Given the description of an element on the screen output the (x, y) to click on. 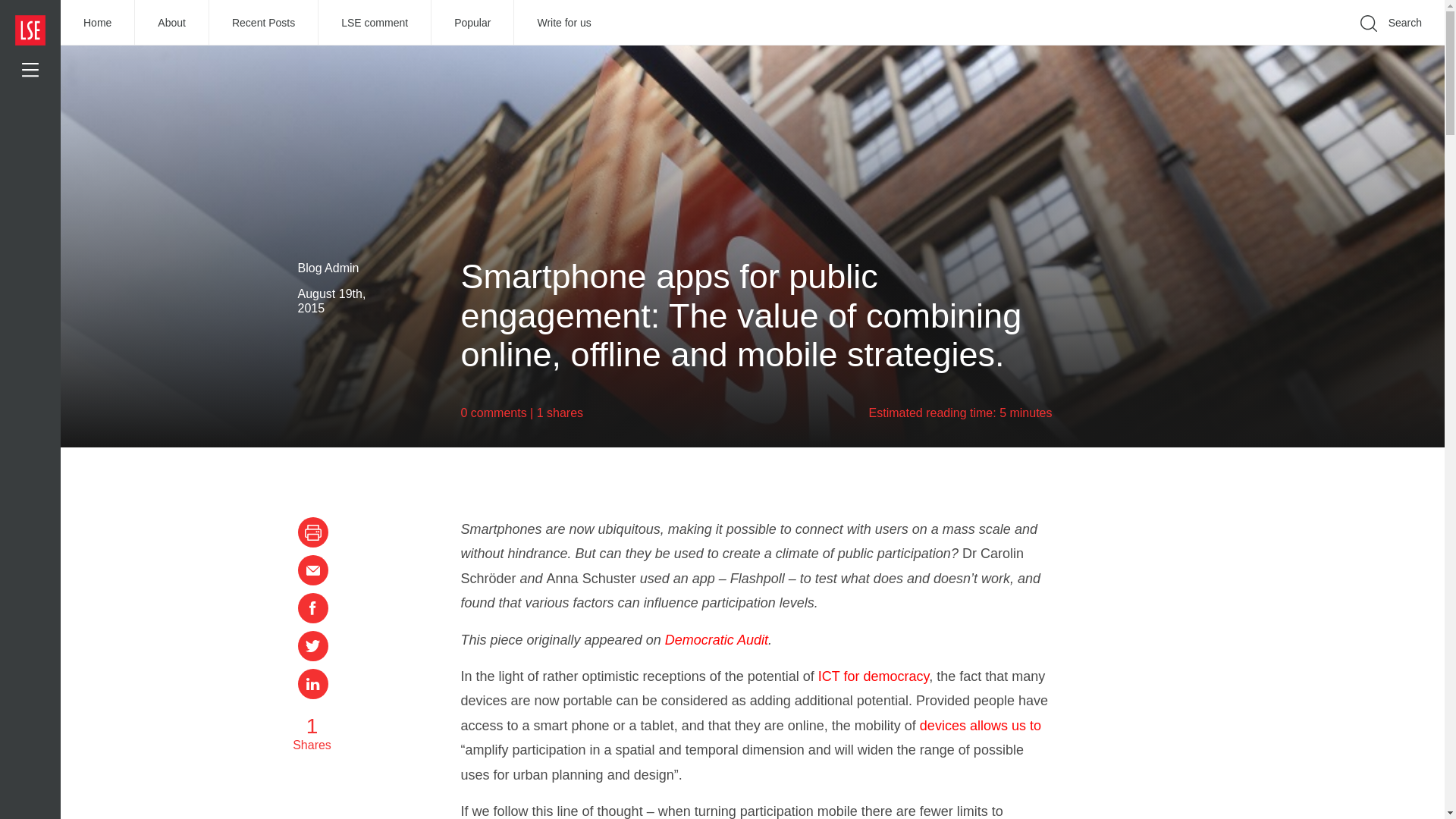
Democratic Audit (716, 639)
Popular (471, 22)
About (172, 22)
0 comments (494, 412)
LSE comment (374, 22)
Go (1190, 44)
devices allows us to (980, 725)
ICT for democracy (873, 676)
Recent Posts (263, 22)
Home (98, 22)
Write for us (562, 22)
